Given the description of an element on the screen output the (x, y) to click on. 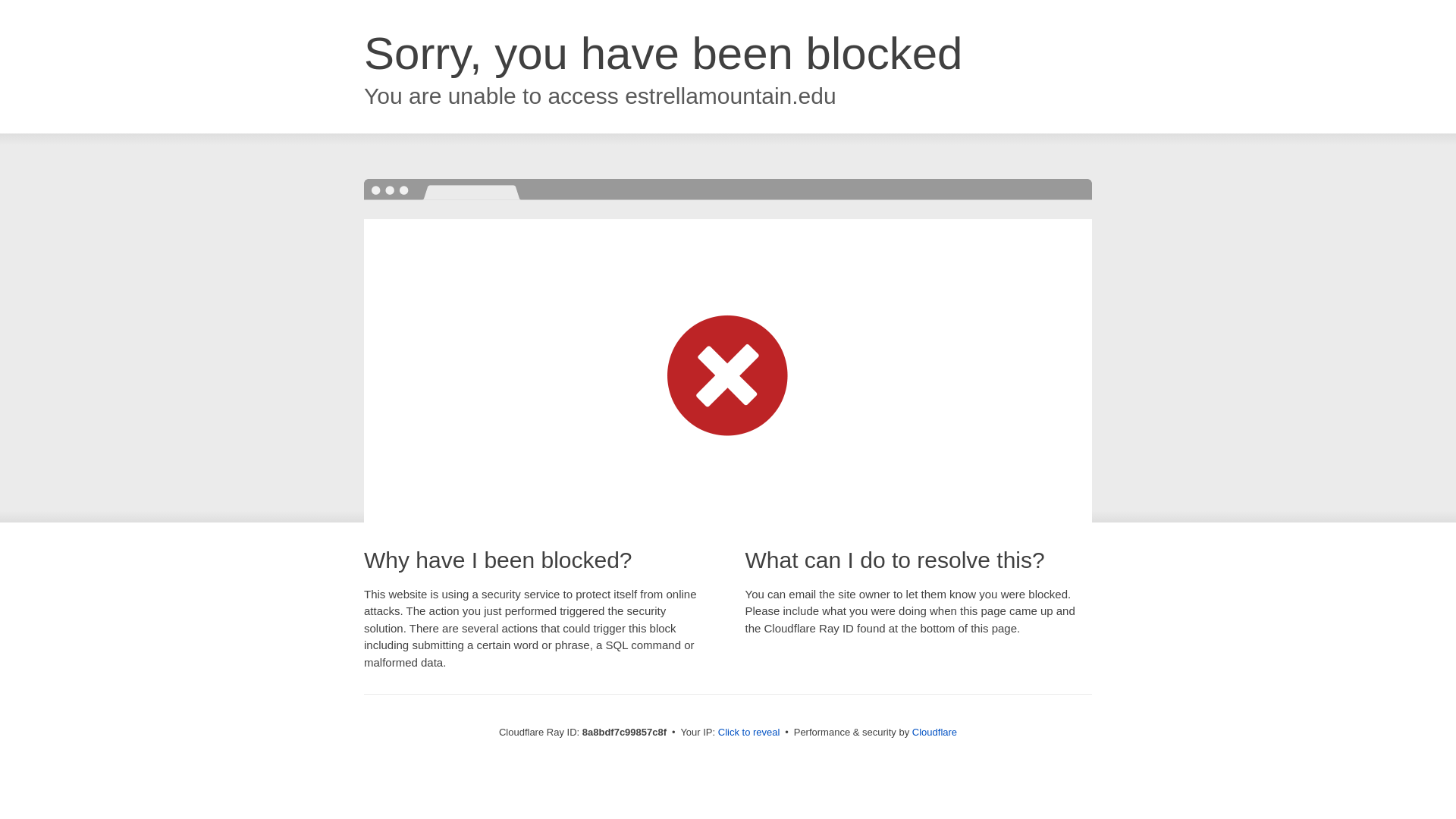
Click to reveal (748, 732)
Cloudflare (934, 731)
